Given the description of an element on the screen output the (x, y) to click on. 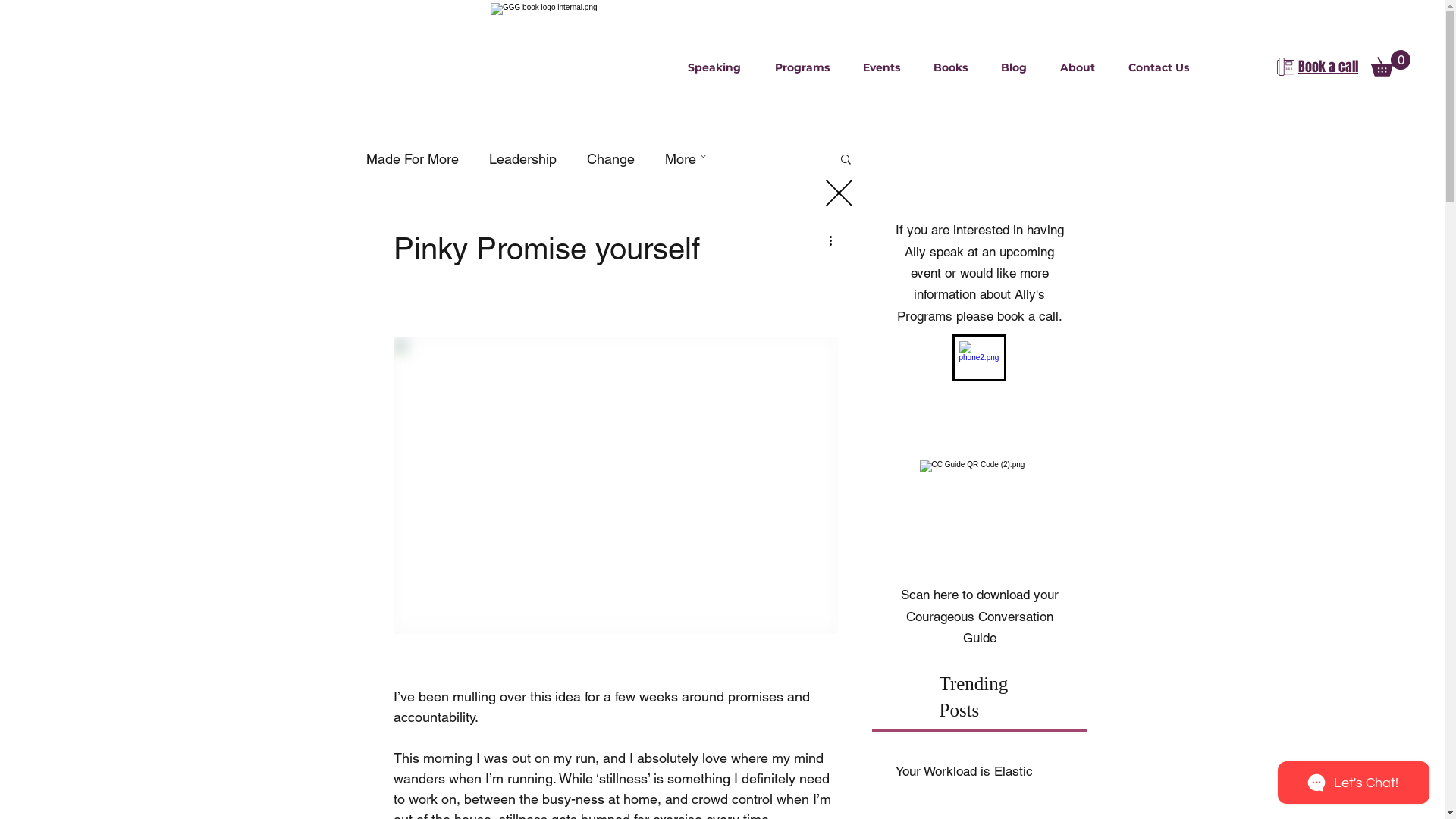
Made For More Element type: text (411, 158)
Your Workload is Elastic Element type: text (978, 770)
Events Element type: text (881, 67)
Contact Us Element type: text (1158, 67)
0 Element type: text (1390, 63)
About Element type: text (1077, 67)
Programs Element type: text (801, 67)
Blog Element type: text (1013, 67)
Book a call Element type: text (1328, 67)
Books Element type: text (950, 67)
Embedded Content Element type: hover (721, 397)
Back to site Element type: hover (838, 192)
Change Element type: text (610, 158)
Speaking Element type: text (713, 67)
Leadership Element type: text (521, 158)
